Given the description of an element on the screen output the (x, y) to click on. 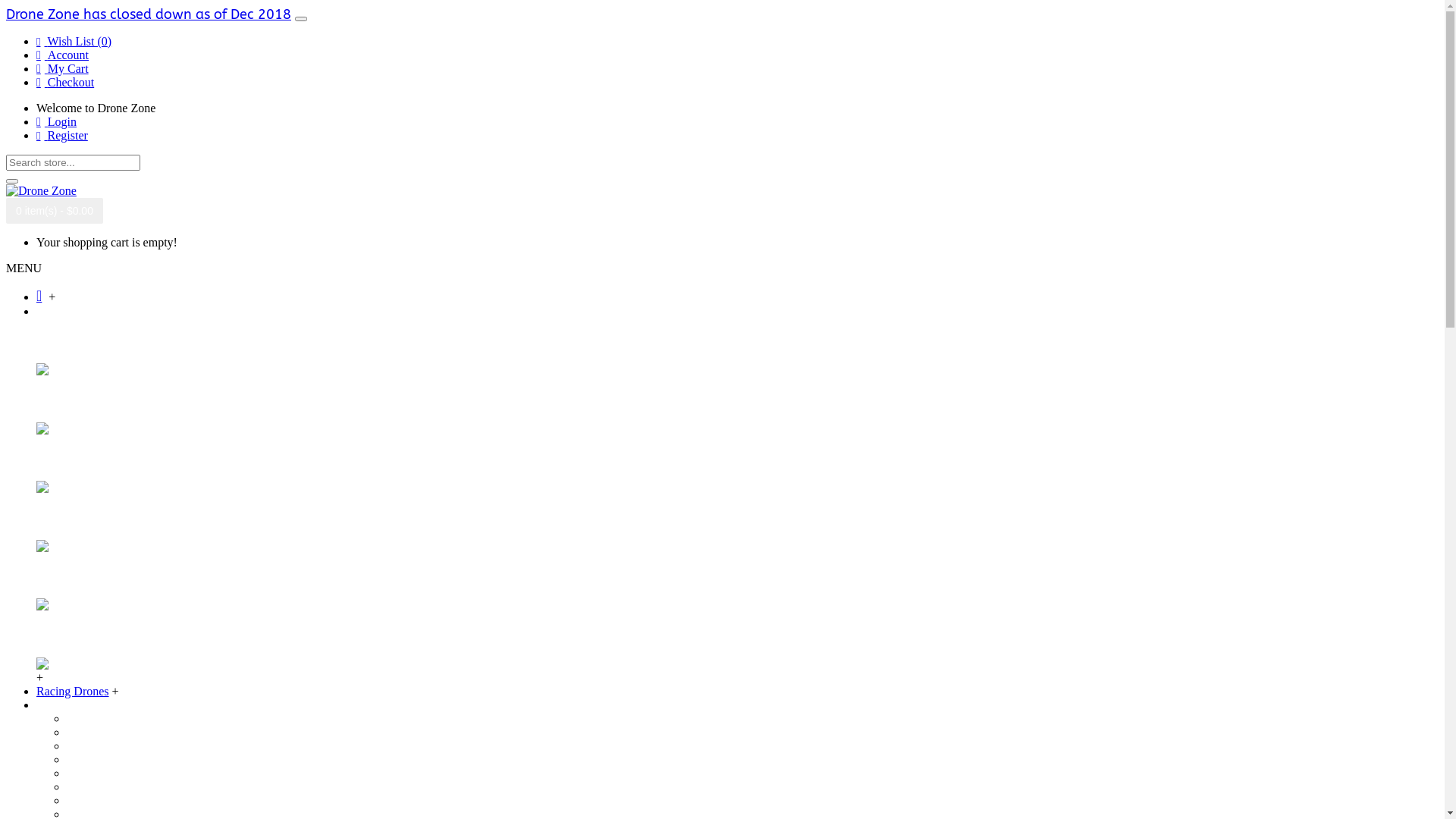
Login Element type: text (56, 121)
DJI Phantom 4 Element type: text (102, 759)
Spark Element type: text (54, 340)
0 item(s) - $0.00 Element type: text (54, 210)
DJI Inspire 2 Element type: text (98, 786)
Wish List (0) Element type: text (73, 40)
DJI Mavic Pro Element type: text (102, 731)
Register Element type: text (61, 134)
DJI Spark Element type: text (90, 718)
DJI Inspire 1 Element type: text (98, 772)
Racing Drones Element type: text (72, 690)
Phantom 3 Element type: text (69, 458)
Phantom 4 Element type: text (69, 516)
DJI Drones Element type: text (63, 310)
My Cart Element type: text (62, 68)
Mavic Pro Element type: text (67, 399)
Account Element type: text (62, 54)
DJI Goggles Element type: text (96, 799)
Inspire 1 Element type: text (63, 575)
Checkout Element type: text (65, 81)
Accessories Element type: text (65, 704)
Inspire 2 Element type: text (63, 634)
DJI Phantom 3 Element type: text (102, 745)
Drone Zone Element type: hover (41, 190)
0 item(s) - $0.00 Element type: text (54, 210)
Drone Zone has closed down as of Dec 2018 Element type: text (148, 14)
